Given the description of an element on the screen output the (x, y) to click on. 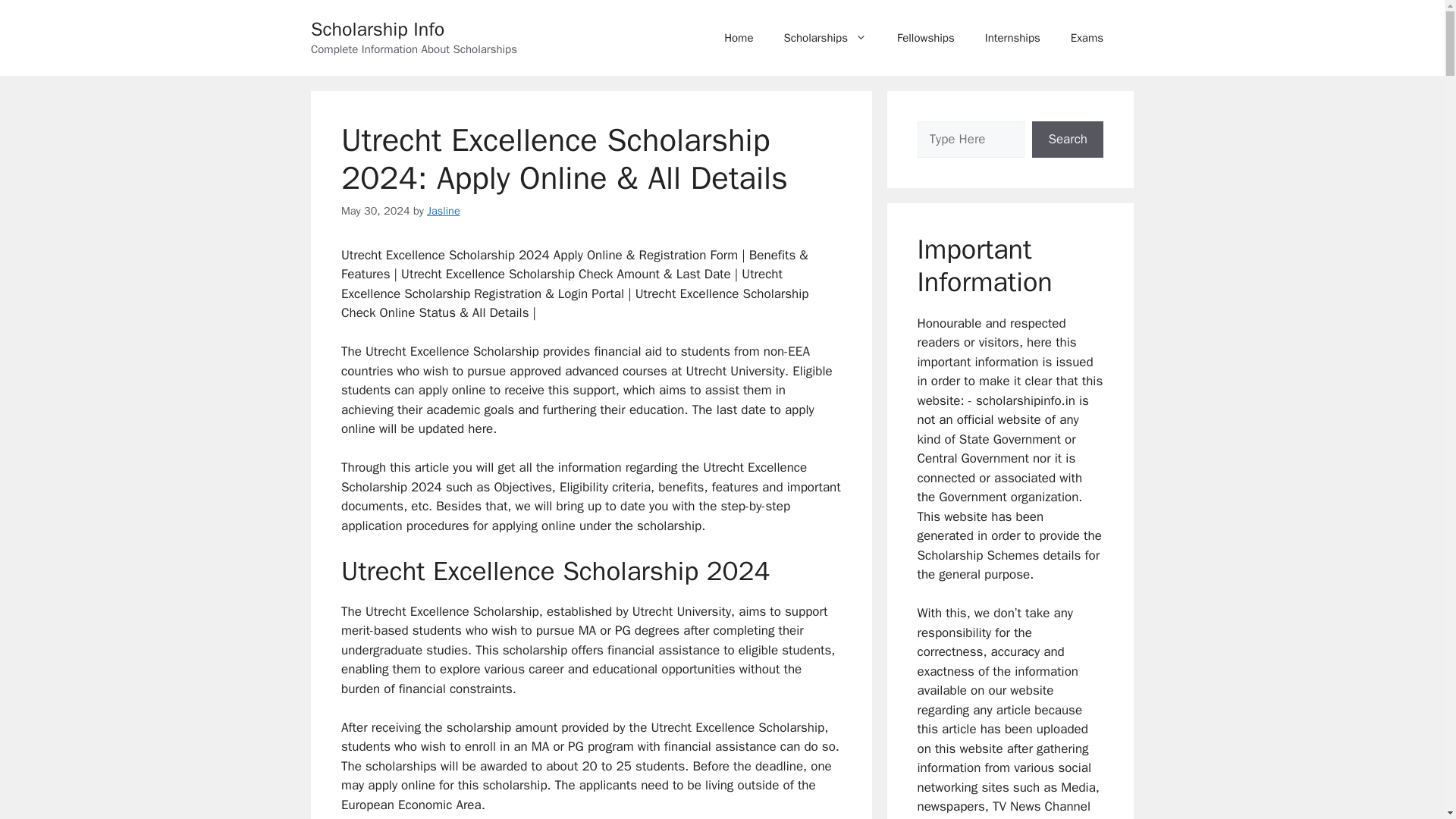
Home (738, 37)
Internships (1012, 37)
Scholarship Info (377, 28)
Fellowships (925, 37)
Exams (1086, 37)
Scholarships (825, 37)
Jasline (443, 210)
View all posts by Jasline (443, 210)
